Given the description of an element on the screen output the (x, y) to click on. 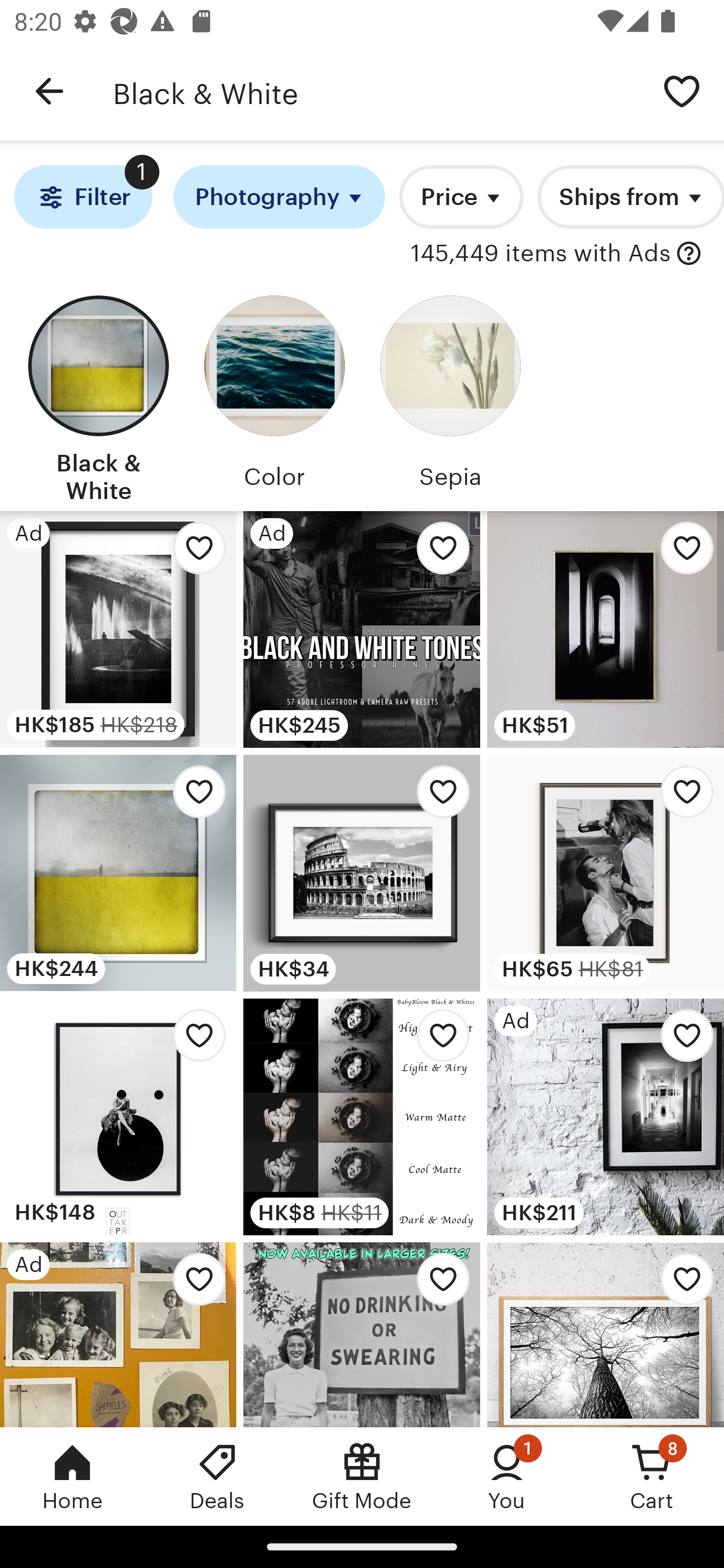
Navigate up (49, 91)
Save search (681, 90)
Black & White (375, 91)
Filter (82, 197)
Photography (279, 197)
Price (460, 197)
Ships from (630, 197)
145,449 items with Ads (540, 253)
with Ads (688, 253)
Black & White (97, 395)
Color (273, 395)
Sepia (449, 395)
Deals (216, 1475)
Gift Mode (361, 1475)
You, 1 new notification You (506, 1475)
Cart, 8 new notifications Cart (651, 1475)
